Given the description of an element on the screen output the (x, y) to click on. 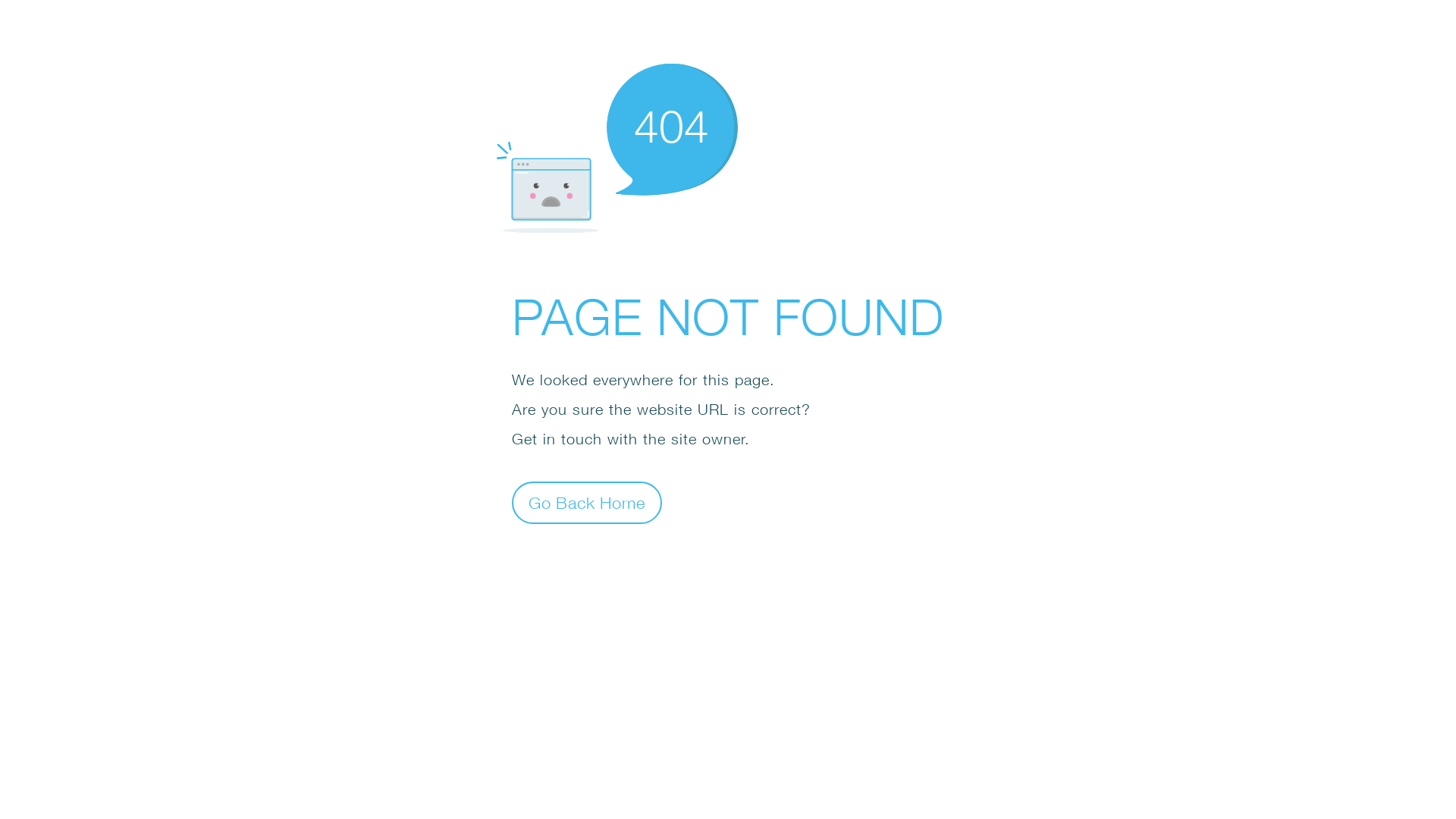
Go Back Home Element type: text (586, 502)
